Given the description of an element on the screen output the (x, y) to click on. 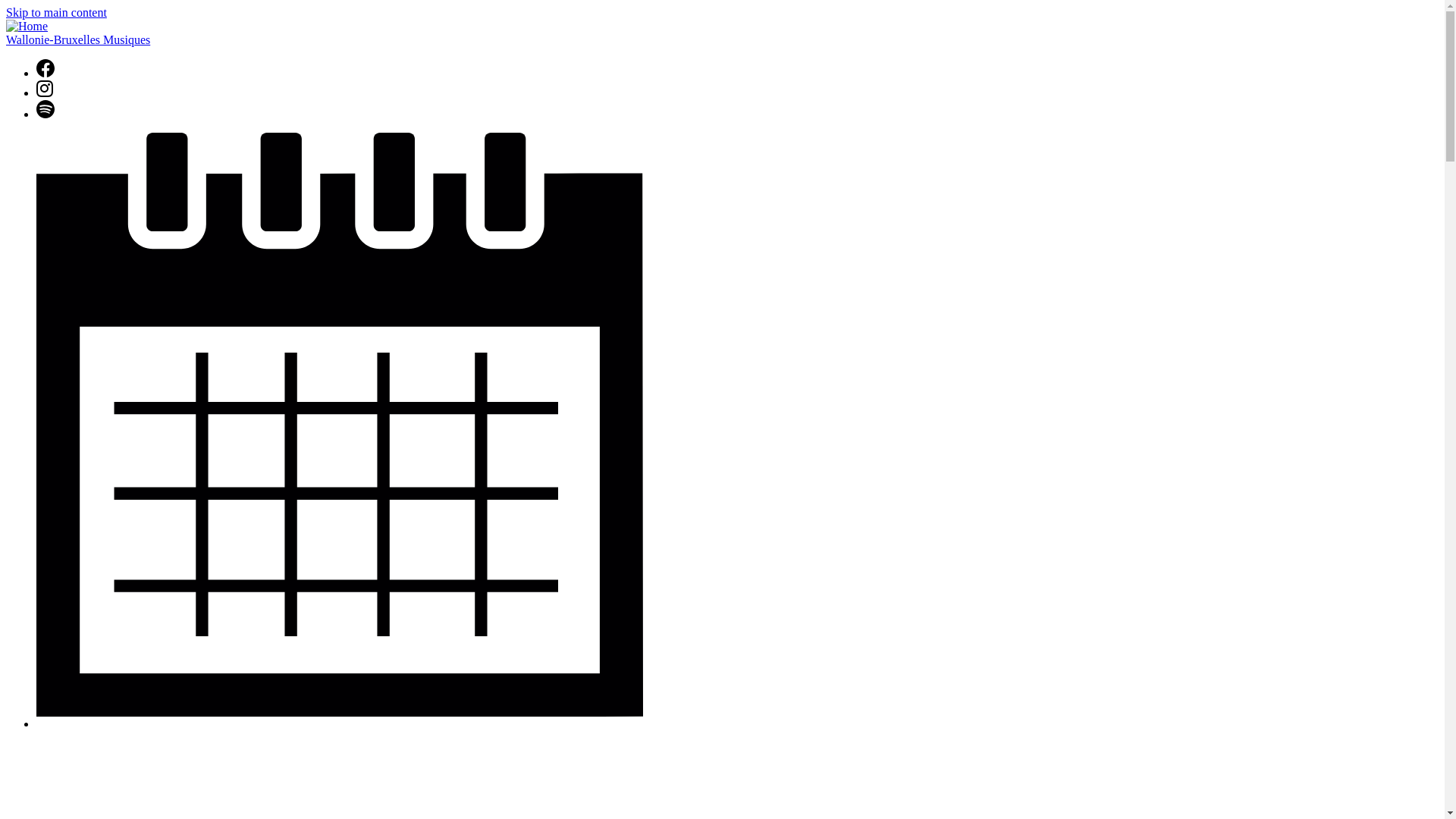
Instagram (44, 88)
Spotify (45, 113)
Instagram (44, 92)
Spotify (45, 108)
Facebook (45, 67)
Facebook (45, 72)
Facebook (45, 72)
Instagram (44, 92)
Skip to main content (55, 11)
Spotify (45, 113)
